Given the description of an element on the screen output the (x, y) to click on. 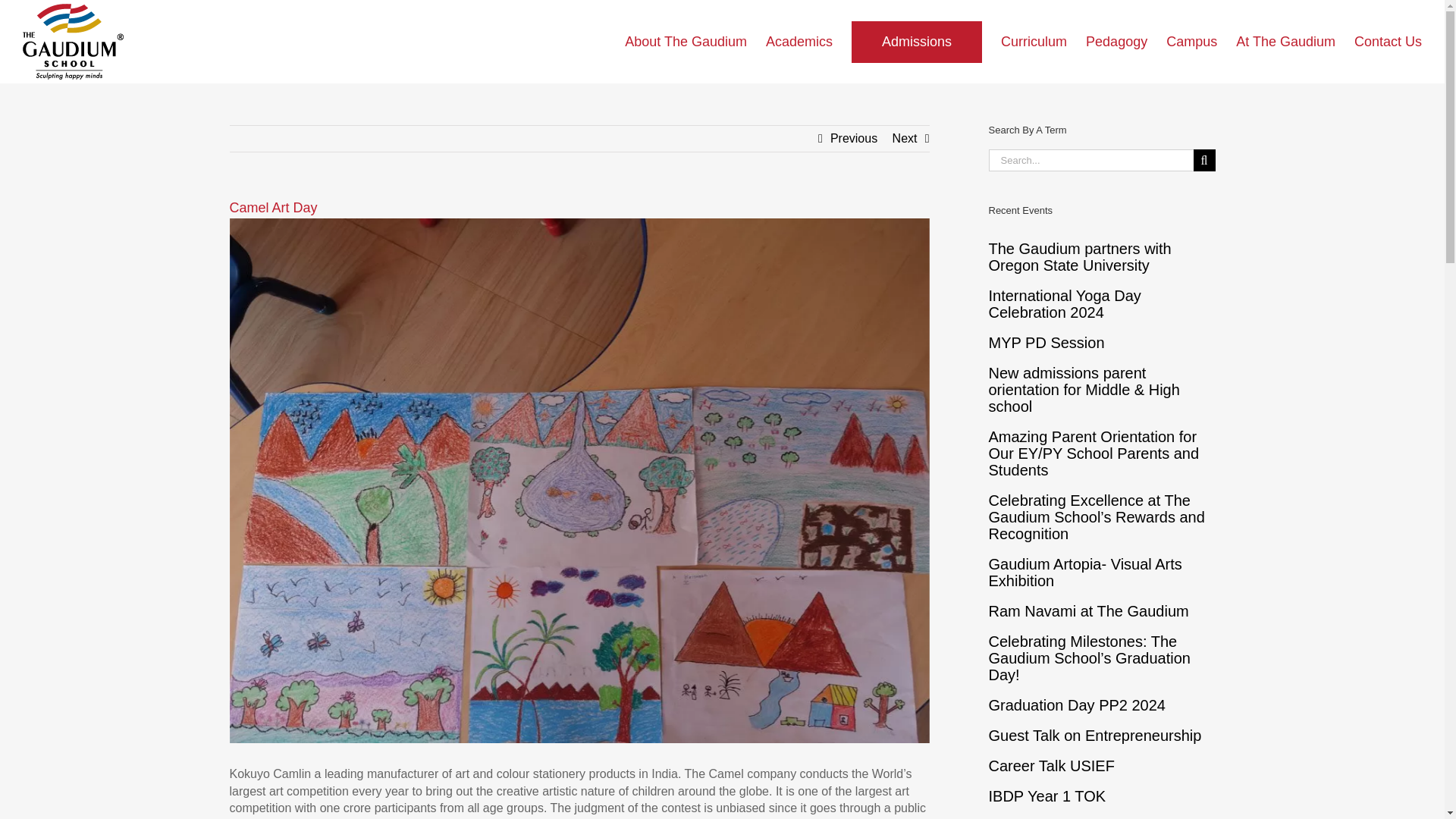
About The Gaudium (685, 41)
Admissions (916, 41)
At The Gaudium (1285, 41)
